Given the description of an element on the screen output the (x, y) to click on. 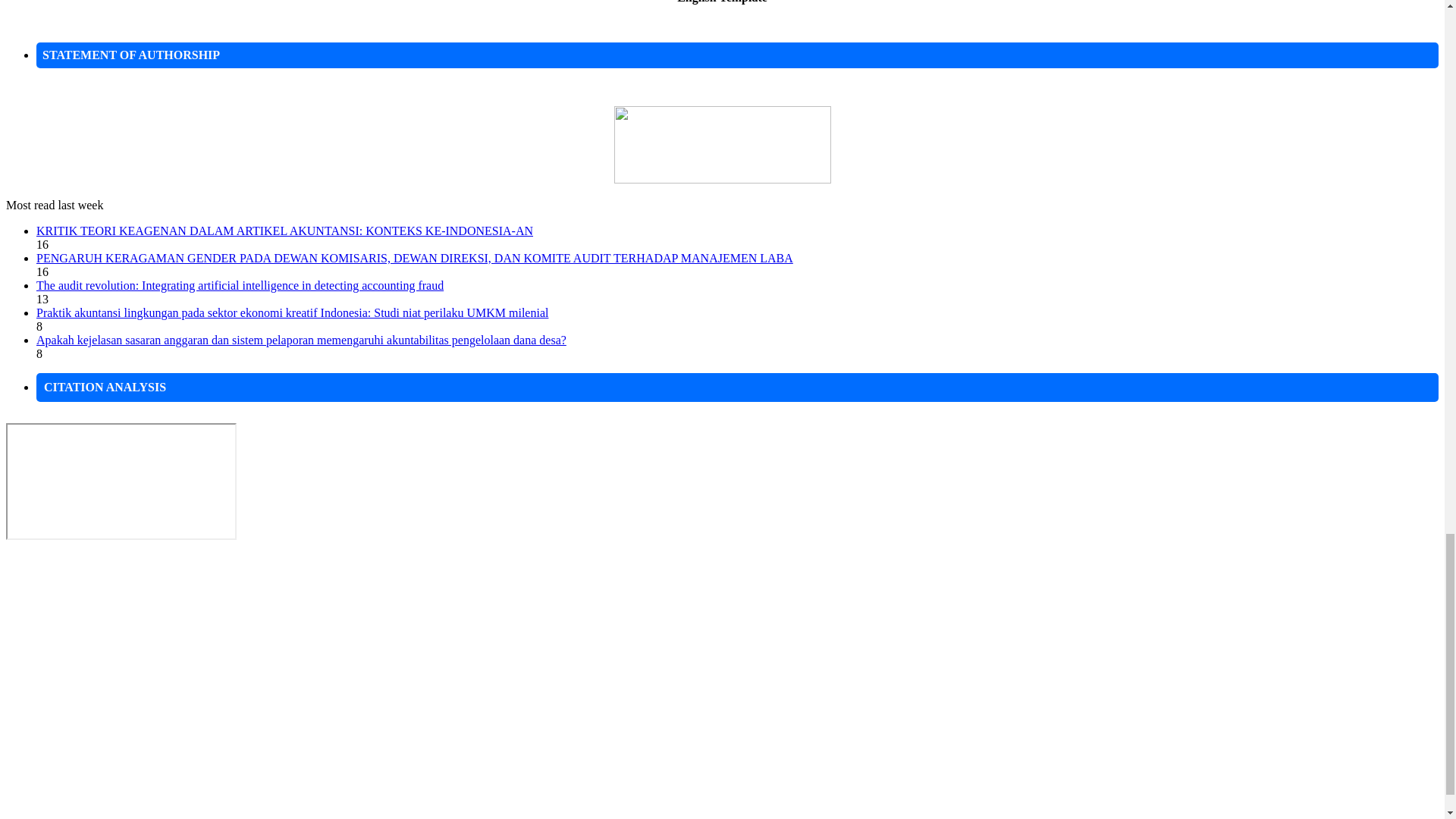
Statement of Authorship (722, 178)
